Given the description of an element on the screen output the (x, y) to click on. 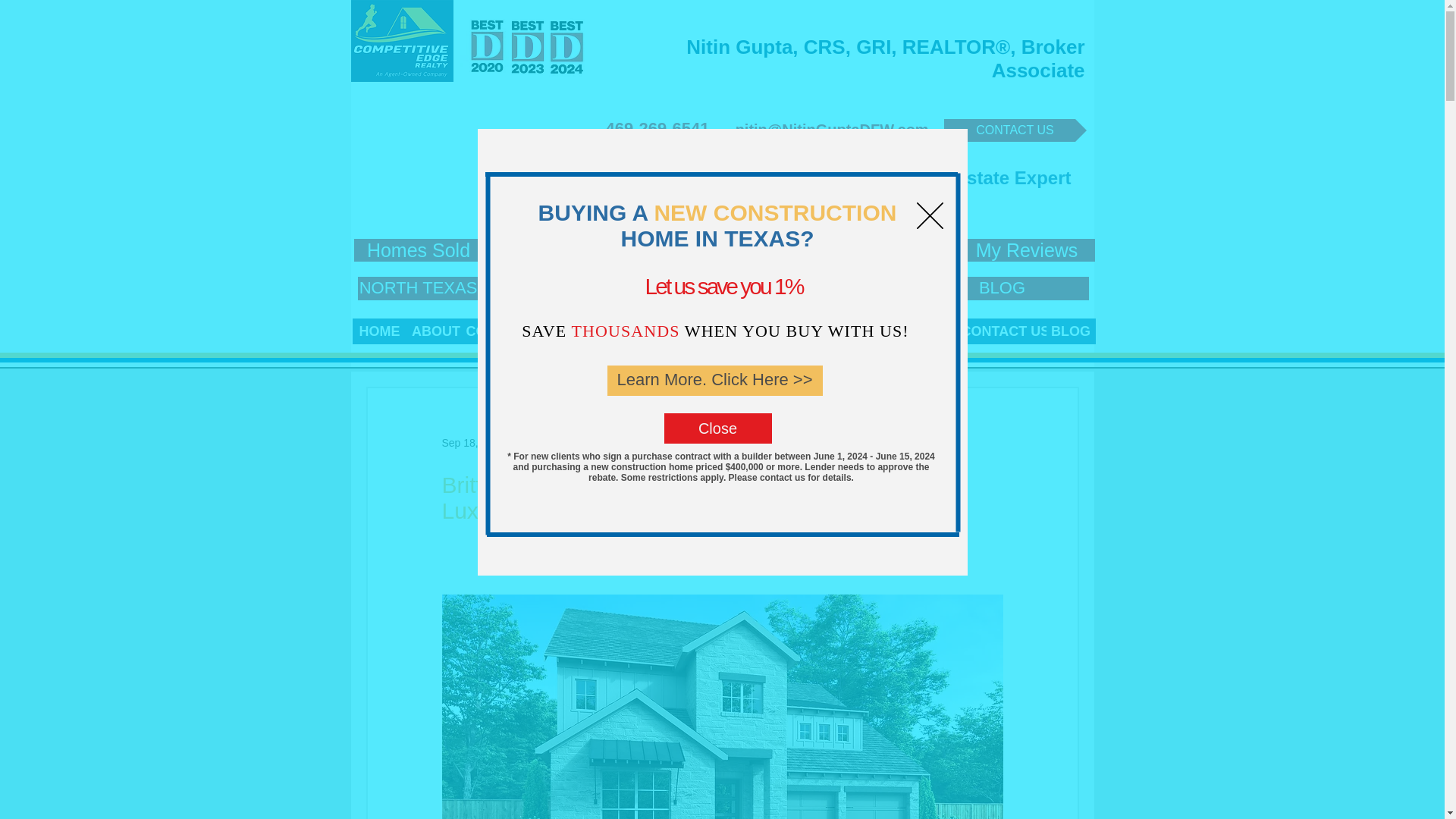
Video Testimonials (616, 250)
Dallas Real Estate Agent -Dallas Relocation Expert (401, 40)
469-269-6541 (657, 128)
HOME (379, 330)
CONTACT US (1014, 129)
My Reviews (1026, 250)
New Construction Tours (843, 250)
Sep 18, 2023 (472, 442)
Homes Sold (418, 250)
Embedded Content (1175, 74)
BLOG (1002, 288)
NORTH TEXAS CITIES (447, 288)
Back to site (928, 214)
